Given the description of an element on the screen output the (x, y) to click on. 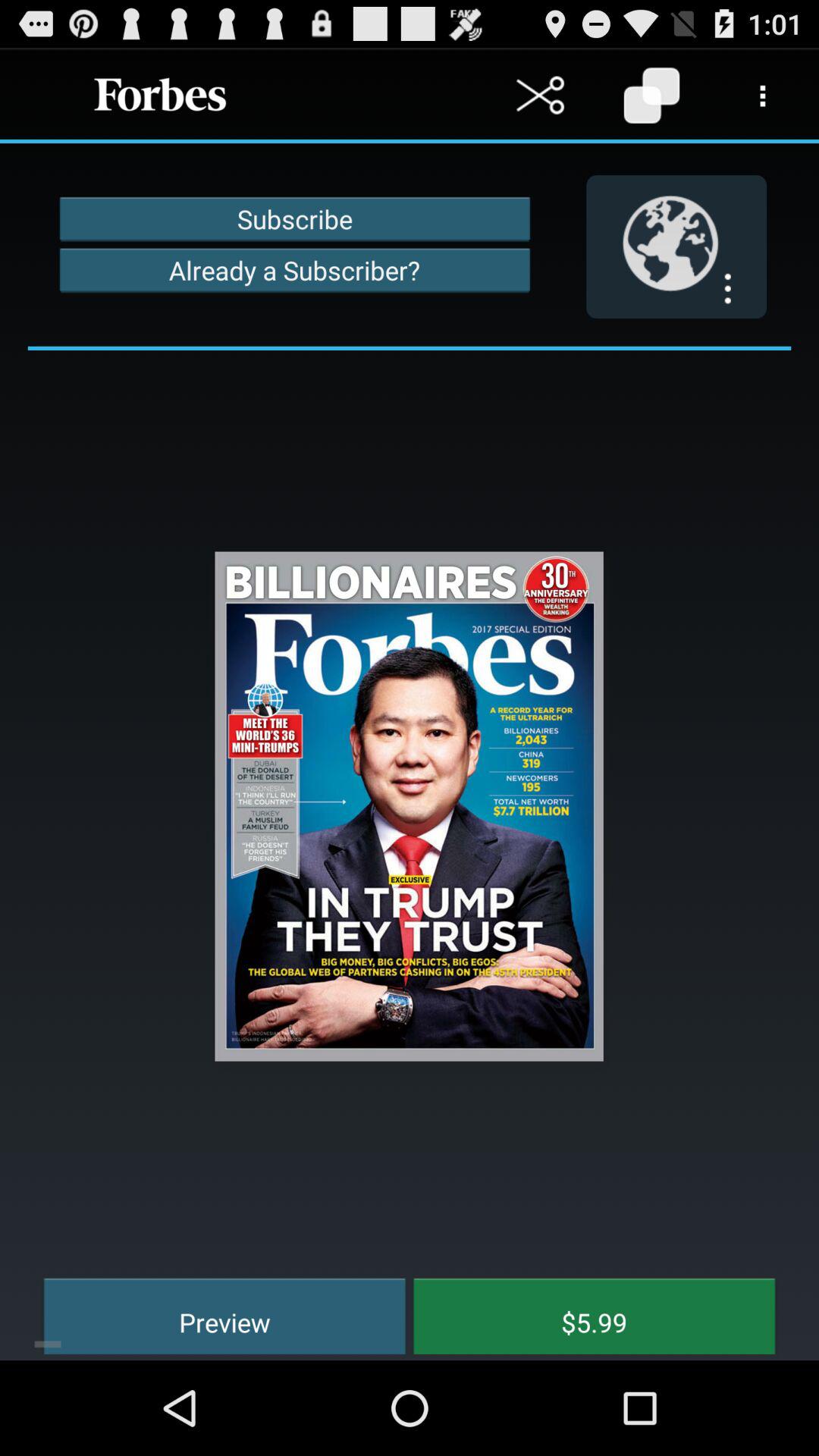
turn on icon below the subscribe icon (294, 269)
